Given the description of an element on the screen output the (x, y) to click on. 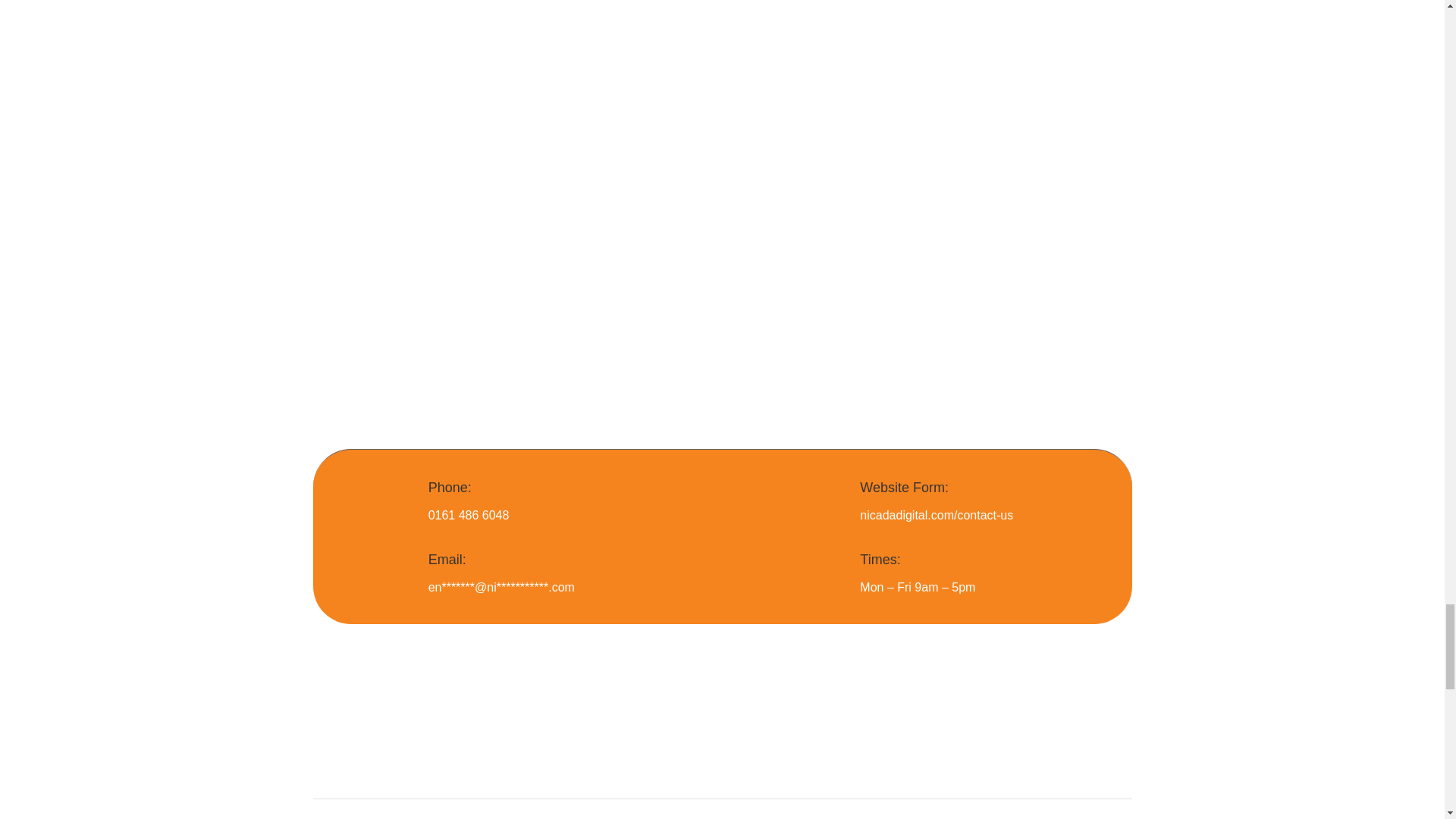
0161 486 6048 (468, 514)
